Given the description of an element on the screen output the (x, y) to click on. 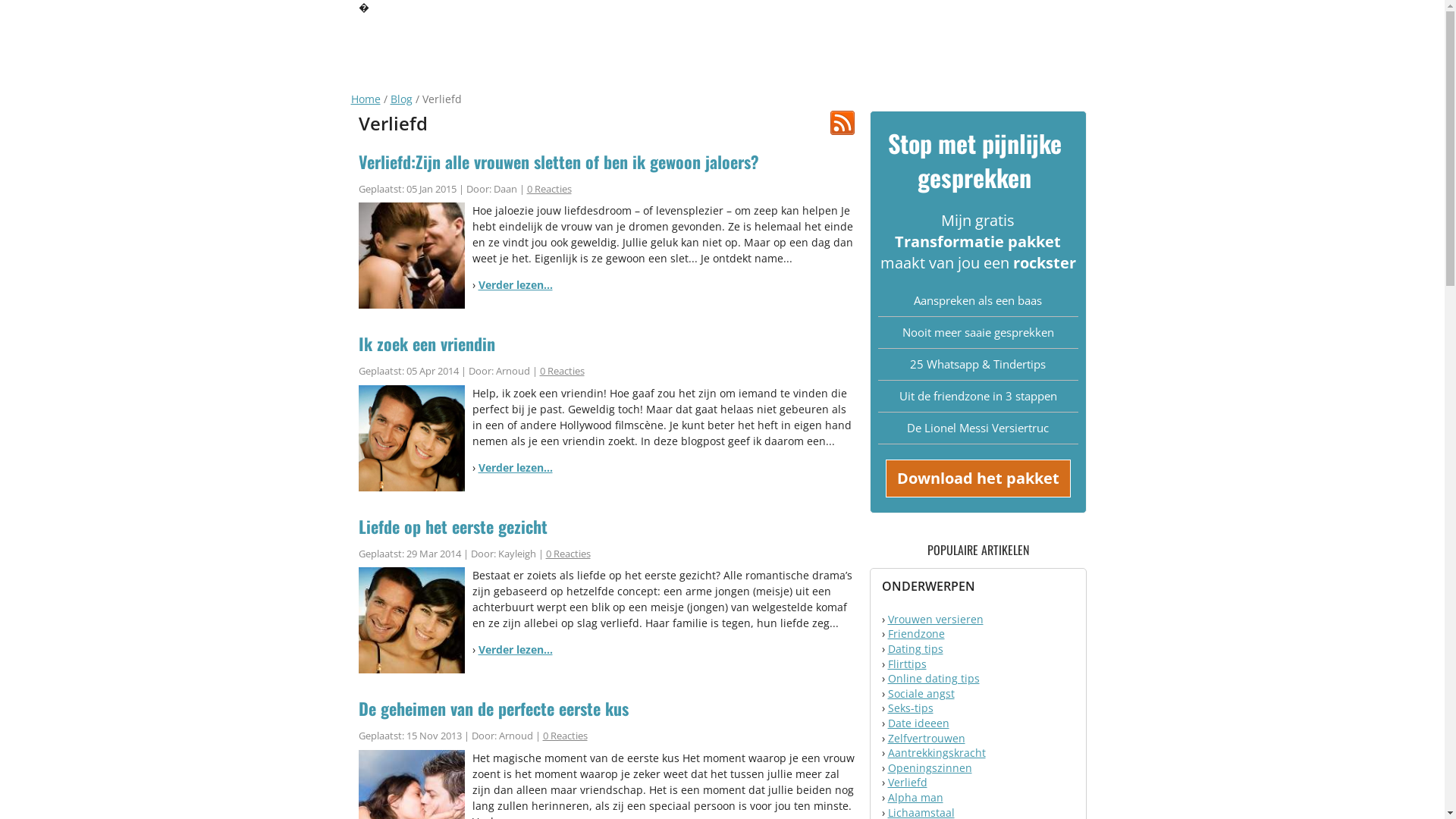
Blog Element type: text (400, 98)
COACHING Element type: text (921, 30)
Home Element type: text (364, 98)
Zelfvertrouwen Element type: text (925, 738)
Date ideeen Element type: text (917, 722)
Verder lezen... Element type: text (514, 649)
Liefde op het eerste gezicht Element type: text (605, 526)
EN Element type: text (1103, 10)
Flirttips Element type: text (906, 663)
NL Element type: text (1063, 10)
Aantrekkingskracht Element type: text (936, 752)
Schrijf Voor Ons Element type: text (998, 10)
Vrouwen versieren Element type: text (934, 618)
Openingszinnen Element type: text (929, 767)
0 Reacties Element type: text (564, 735)
Friendzone Element type: text (915, 633)
0 Reacties Element type: text (548, 188)
Sociale angst Element type: text (920, 693)
Online dating tips Element type: text (933, 678)
Verder lezen... Element type: text (514, 284)
YOUTUBE Element type: text (1050, 30)
0 Reacties Element type: text (568, 553)
Download het pakket Element type: text (977, 478)
GRATIS DATING ADVIES (TIP!) Element type: text (647, 30)
Verliefd Element type: text (906, 782)
BLOG Element type: text (987, 30)
Seks-tips Element type: text (909, 707)
Verder lezen... Element type: text (514, 467)
OVER ONS Element type: text (762, 30)
De geheimen van de perfecte eerste kus Element type: text (605, 708)
DE Element type: text (1083, 10)
Alpha man Element type: text (914, 797)
Verliefd:Zijn alle vrouwen sletten of ben ik gewoon jaloers? Element type: text (605, 161)
Ik zoek een vriendin Element type: text (605, 343)
Vrouwen versieren: AttractionGym Element type: text (414, 28)
0 Reacties Element type: text (561, 370)
Dating tips Element type: text (914, 648)
PRODUCTEN Element type: text (841, 30)
